Given the description of an element on the screen output the (x, y) to click on. 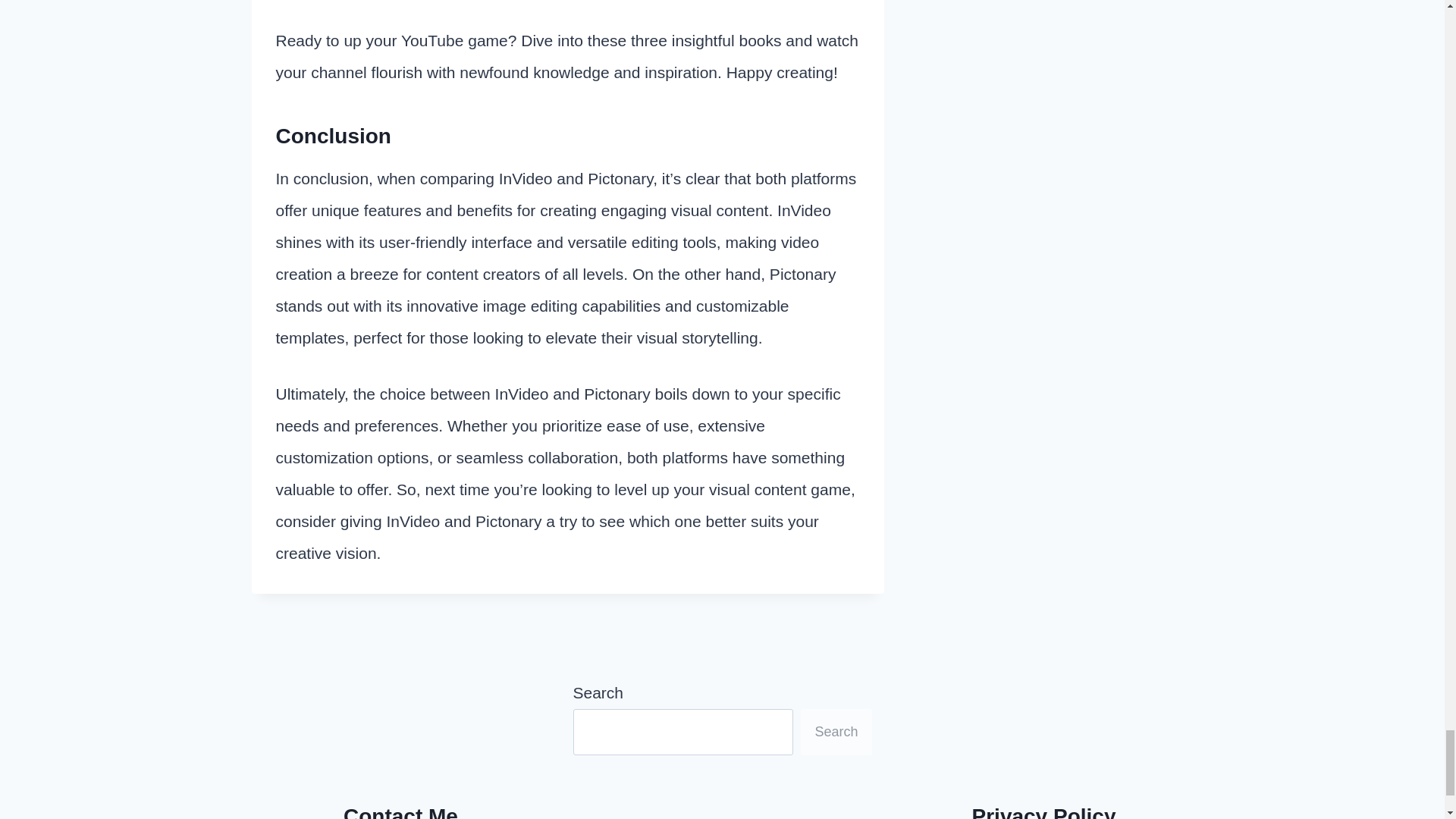
Privacy Policy (1044, 811)
Contact Me (400, 811)
Search (835, 732)
